Given the description of an element on the screen output the (x, y) to click on. 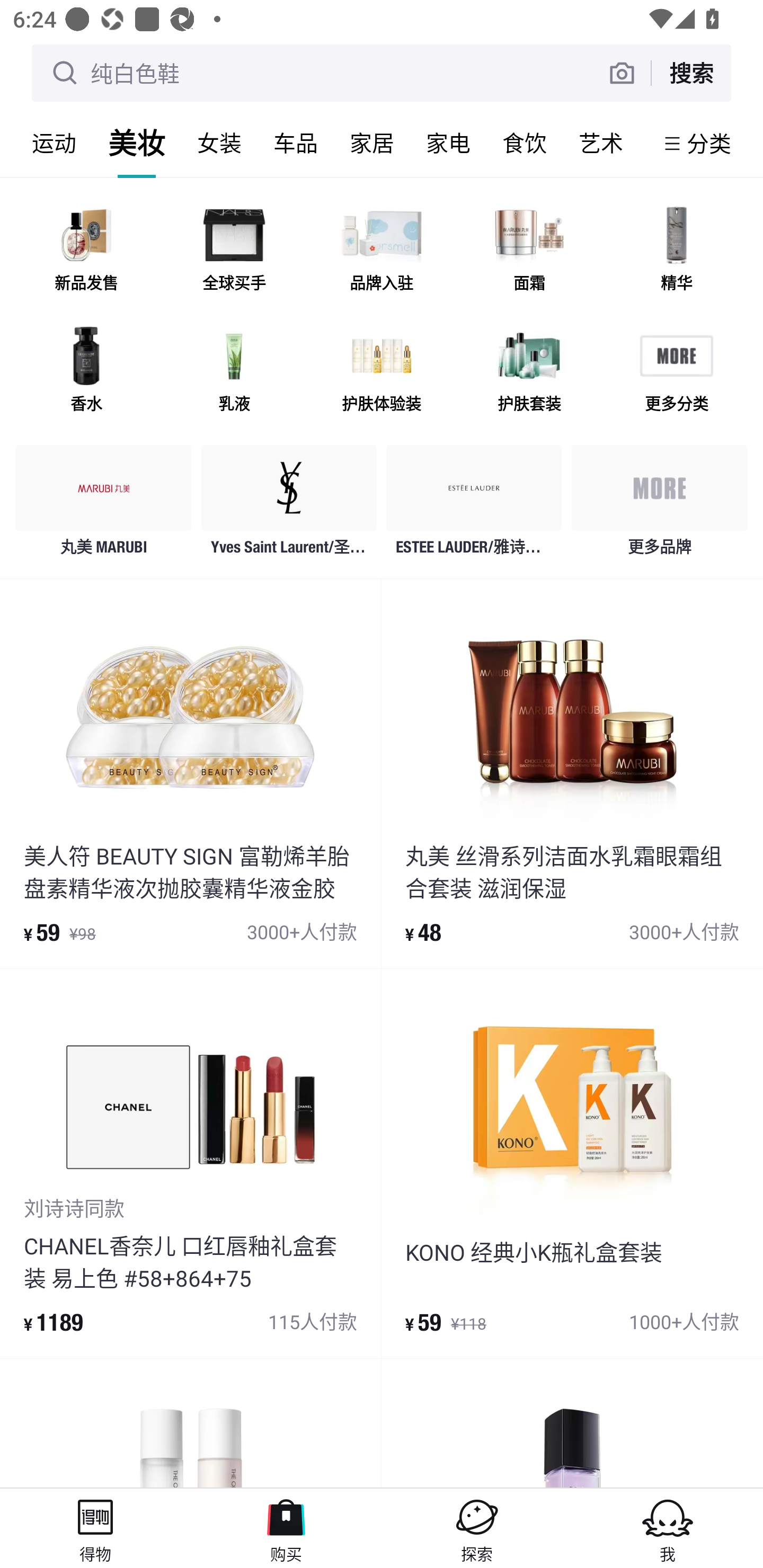
搜索 (690, 72)
运动 (54, 143)
美妆 (136, 143)
女装 (219, 143)
车品 (295, 143)
家居 (372, 143)
家电 (448, 143)
食饮 (524, 143)
艺术 (601, 143)
分类 (708, 143)
新品发售 (86, 251)
全球买手 (233, 251)
品牌入驻 (381, 251)
面霜 (528, 251)
精华 (676, 251)
香水 (86, 372)
乳液 (233, 372)
护肤体验装 (381, 372)
护肤套装 (528, 372)
更多分类 (676, 372)
丸美 MARUBI (103, 505)
Yves Saint Laurent/圣罗兰 (288, 505)
ESTEE LAUDER/雅诗兰黛 (473, 505)
更多品牌 (658, 505)
product_item KONO 经典小K瓶礼盒套装 ¥ 59 ¥118 1000+人付款 (572, 1163)
得物 (95, 1528)
购买 (285, 1528)
探索 (476, 1528)
我 (667, 1528)
